Given the description of an element on the screen output the (x, y) to click on. 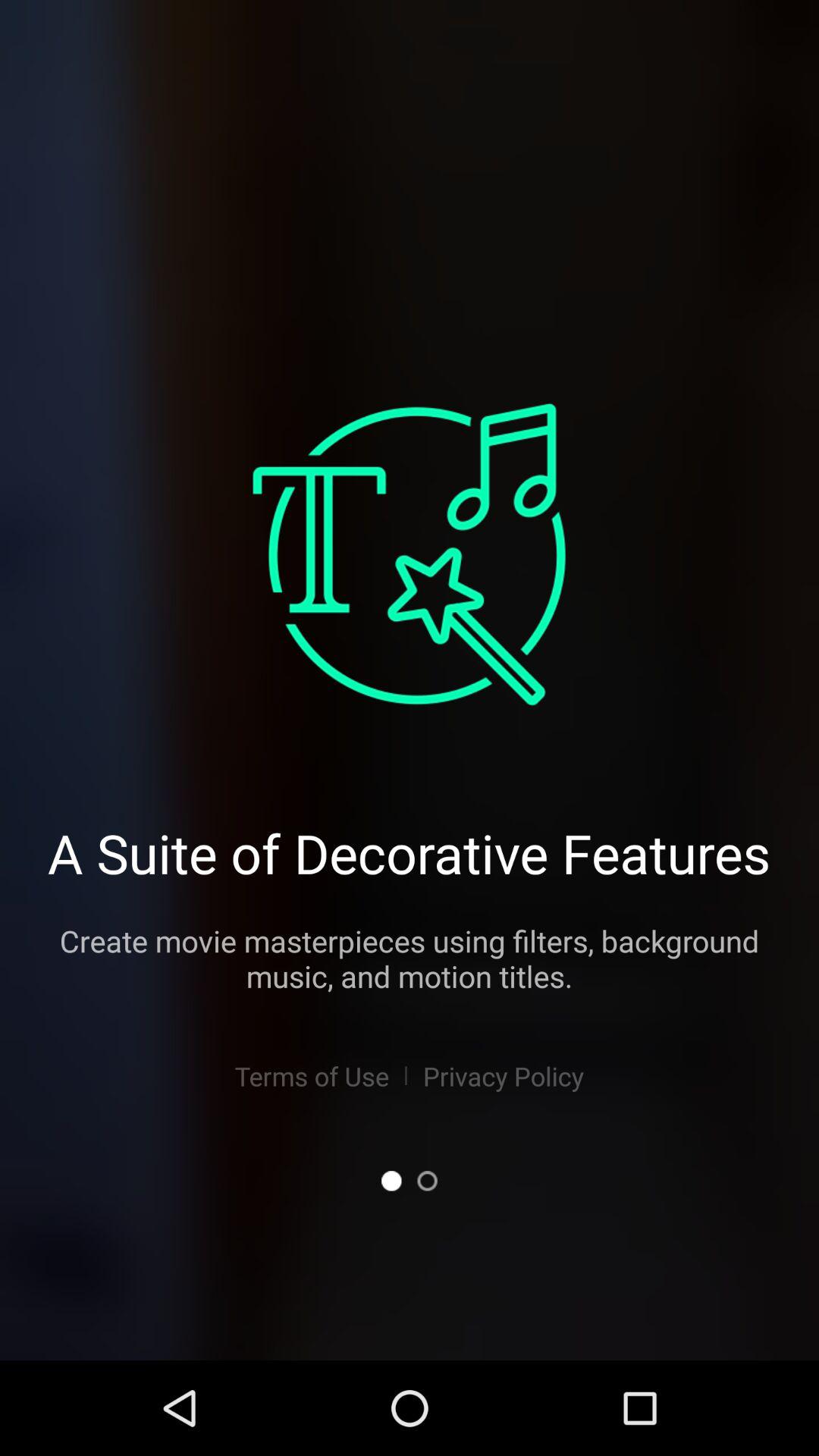
turn on the privacy policy icon (503, 1075)
